Given the description of an element on the screen output the (x, y) to click on. 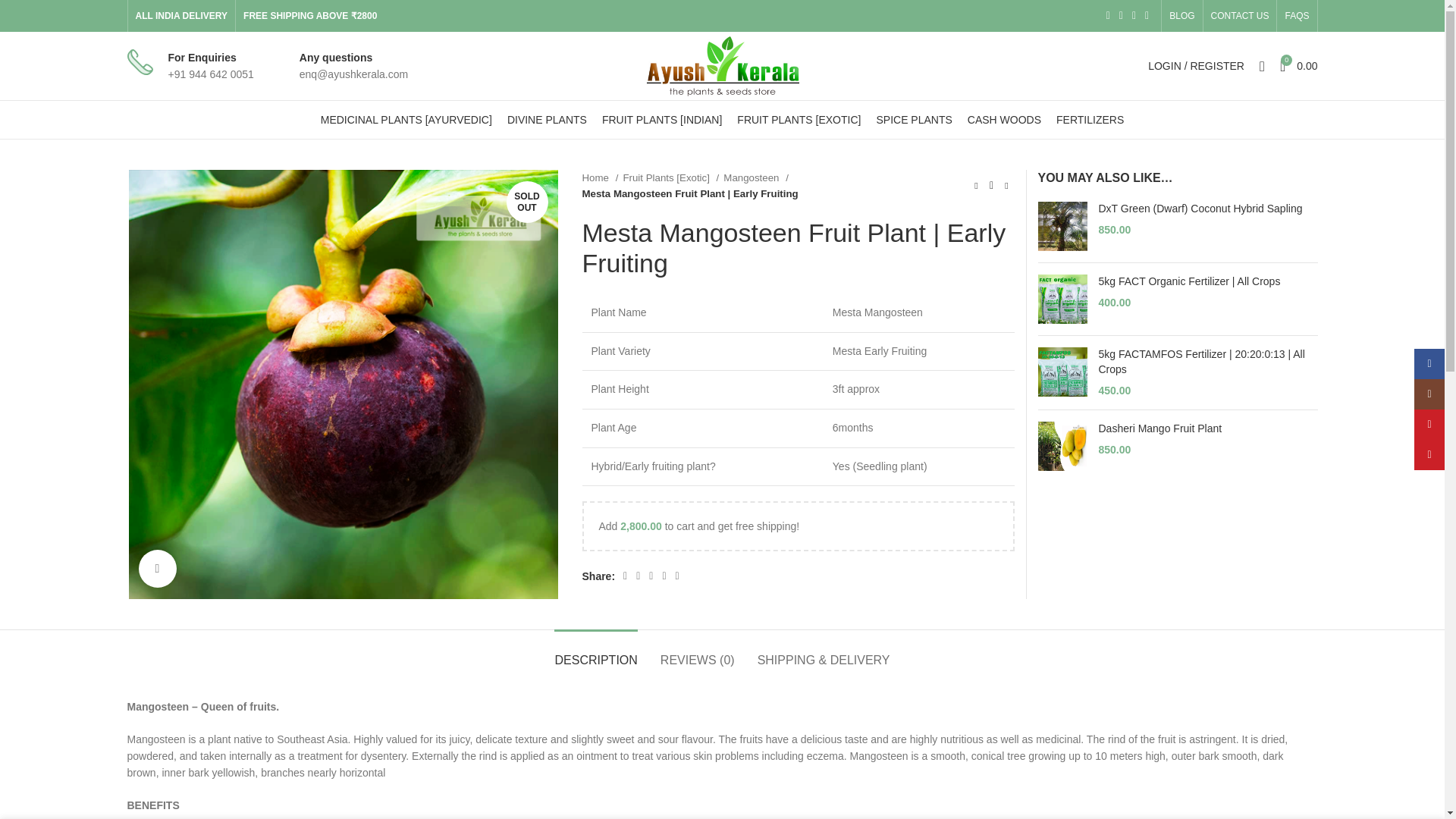
BLOG (1181, 15)
FERTILIZERS (1089, 119)
Dasheri Mango Fruit Plant (1061, 445)
Shopping cart (1298, 65)
Dasheri Mango Fruit Plant (1207, 428)
SPICE PLANTS (1298, 65)
CONTACT US (913, 119)
FAQS (1240, 15)
CASH WOODS (1296, 15)
Search (1003, 119)
DIVINE PLANTS (1262, 65)
My account (546, 119)
Home (1196, 65)
